Given the description of an element on the screen output the (x, y) to click on. 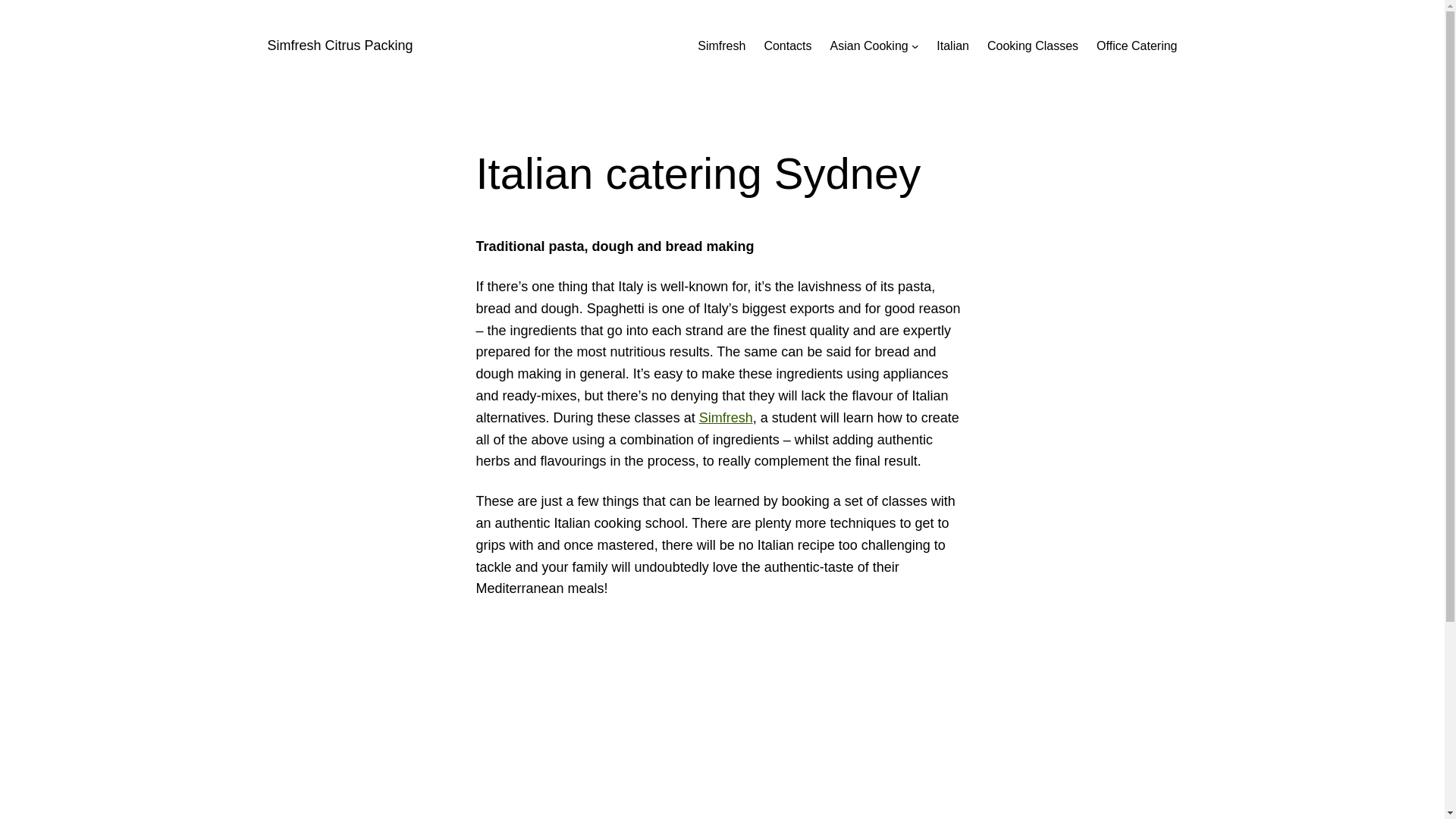
Simfresh Element type: text (721, 46)
Italian Element type: text (952, 46)
Simfresh Element type: text (726, 417)
Asian Cooking Element type: text (869, 46)
Contacts Element type: text (787, 46)
Office Catering Element type: text (1136, 46)
Simfresh Citrus Packing Element type: text (339, 45)
Cooking Classes Element type: text (1032, 46)
